Given the description of an element on the screen output the (x, y) to click on. 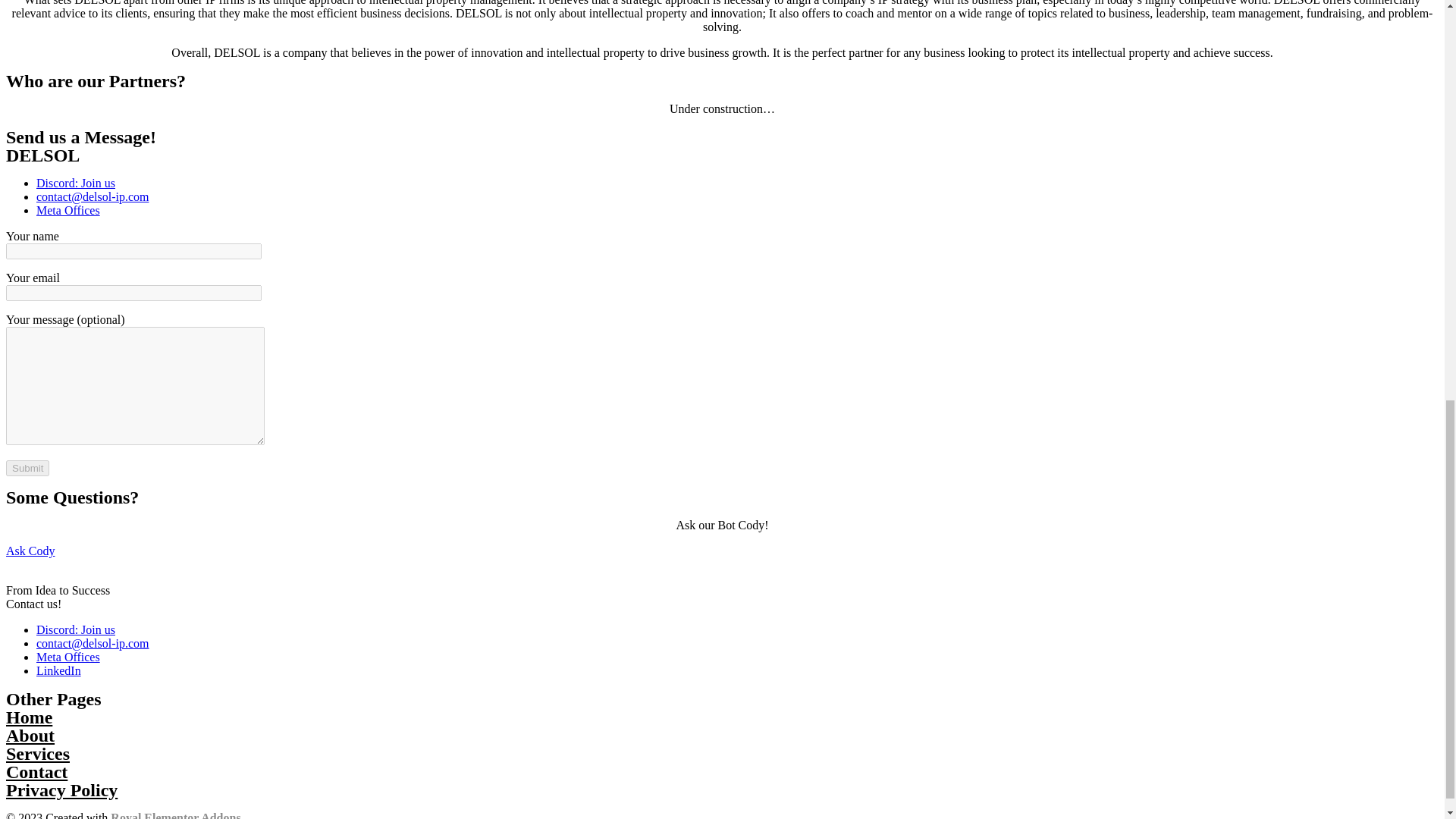
Discord: Join us (75, 182)
Home (28, 717)
Privacy Policy (61, 790)
Submit (27, 467)
LinkedIn (58, 670)
Meta Offices (68, 210)
Contact (35, 772)
Submit (27, 467)
About (30, 735)
Meta Offices (68, 656)
Ask Cody (30, 550)
Discord: Join us (75, 629)
Services (37, 753)
